Given the description of an element on the screen output the (x, y) to click on. 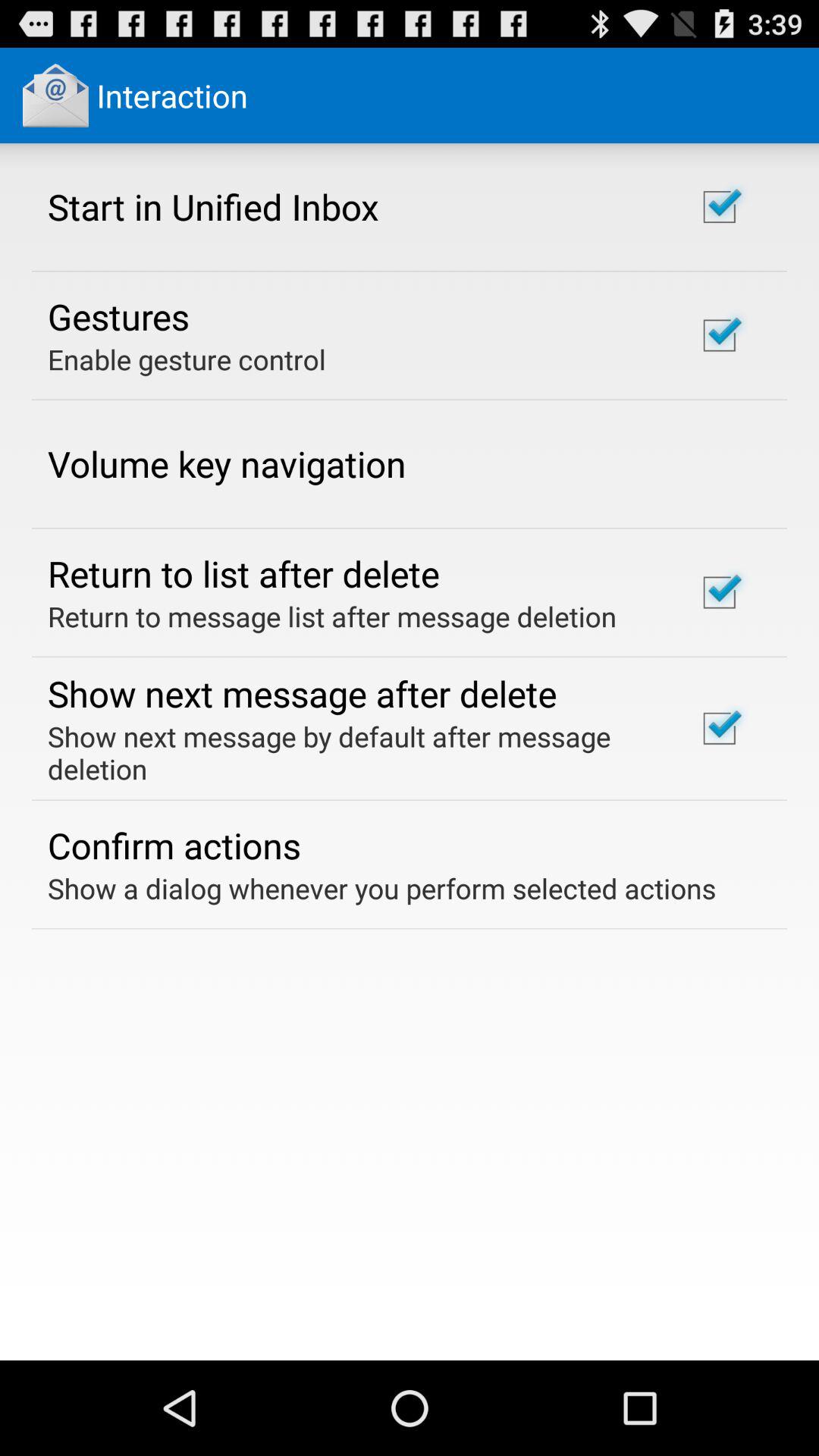
turn off the app above volume key navigation item (186, 359)
